Given the description of an element on the screen output the (x, y) to click on. 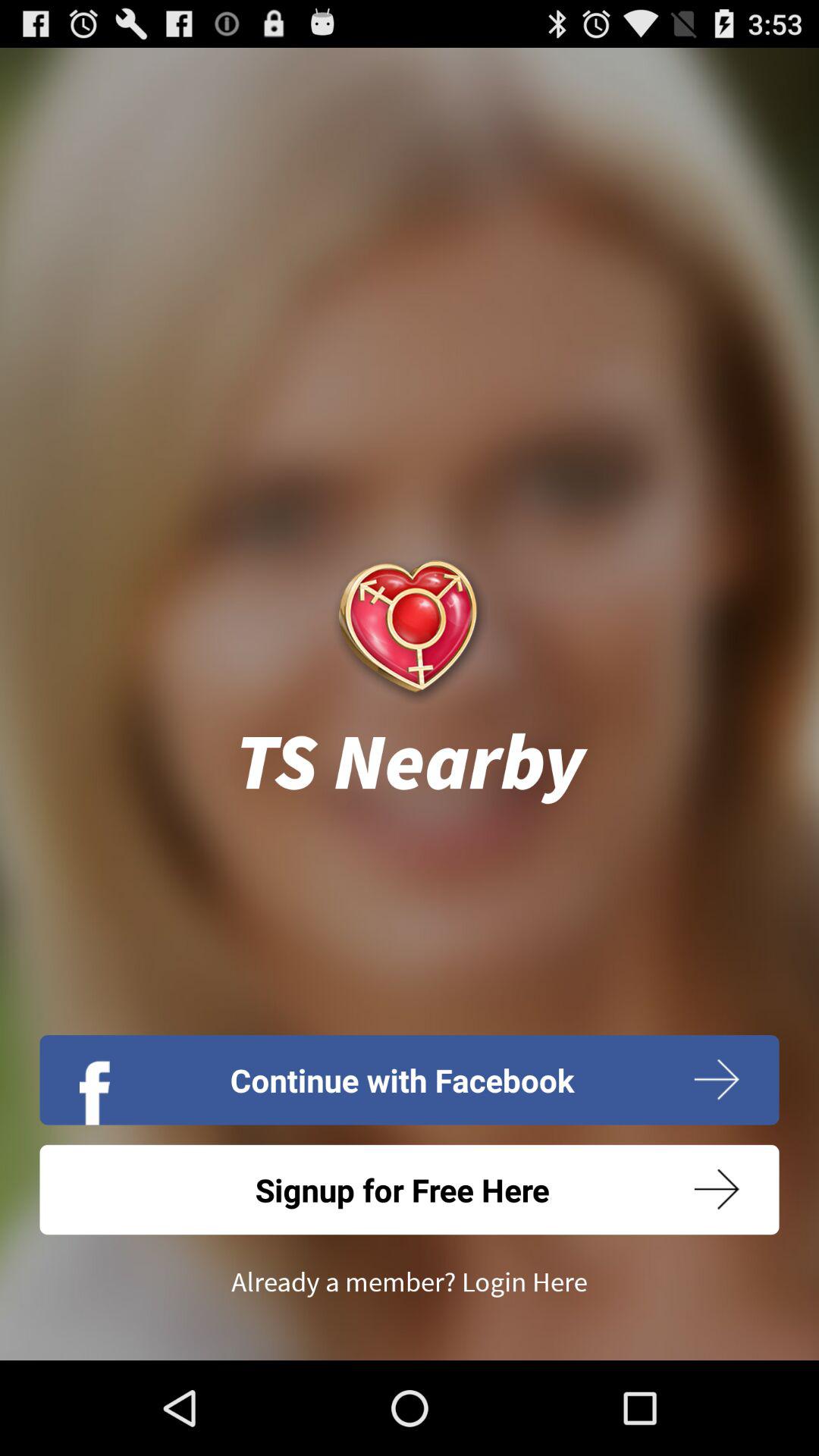
turn off continue with facebook button (409, 1079)
